Given the description of an element on the screen output the (x, y) to click on. 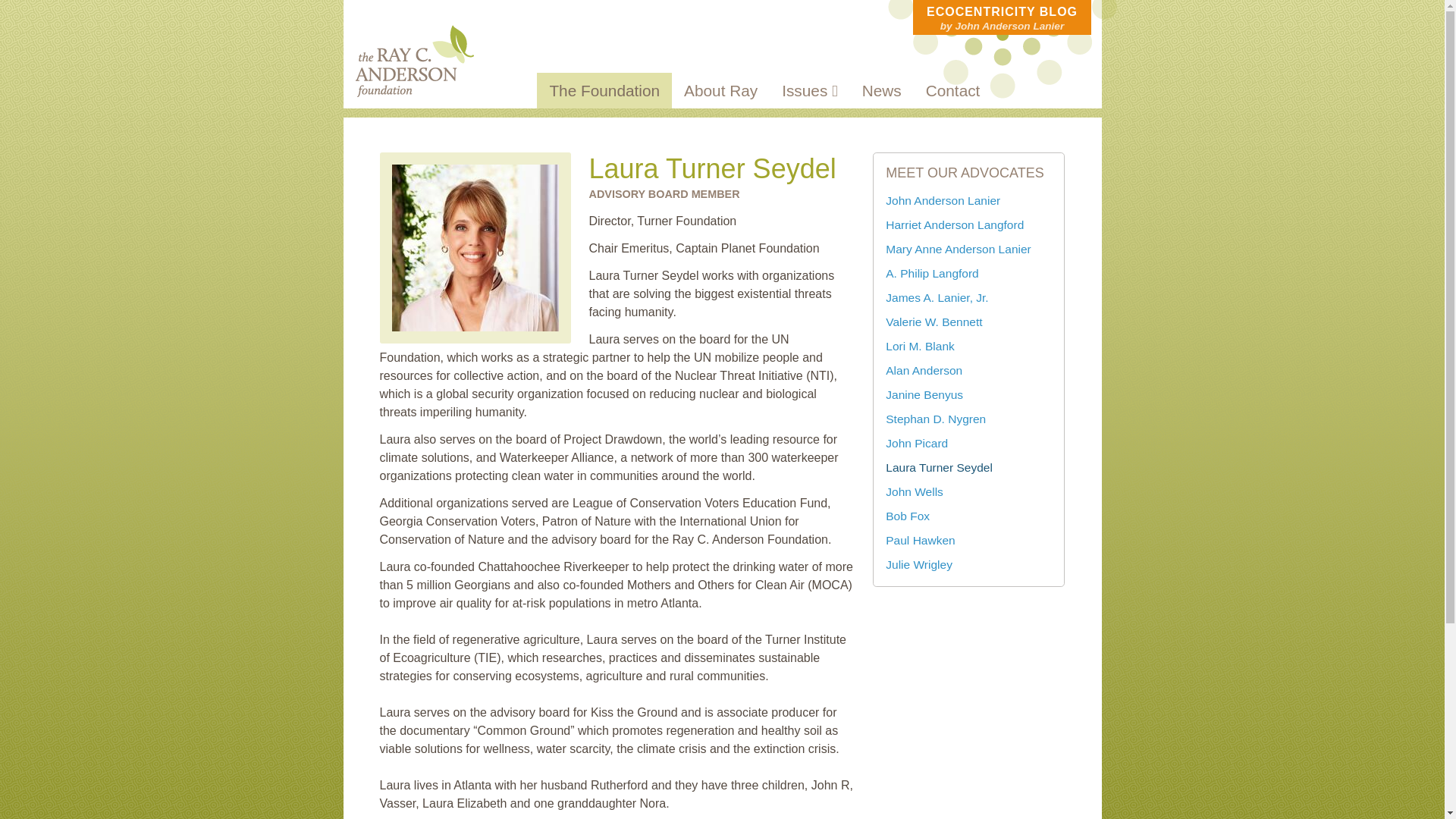
Harriet Anderson Langford (954, 224)
Alan Anderson (923, 370)
Janine Benyus (923, 394)
John Anderson Lanier (942, 200)
Laura Turner Seydel (938, 466)
Harriet Anderson Langford (954, 224)
John Picard (916, 443)
A. Philip Langford (931, 272)
News (882, 90)
Mary Anne Anderson Lanier (957, 248)
Janine Benyus (923, 394)
John Picard (916, 443)
Valerie W. Bennett (933, 321)
Bob Fox (907, 515)
Laura Turner Seydel (938, 466)
